Given the description of an element on the screen output the (x, y) to click on. 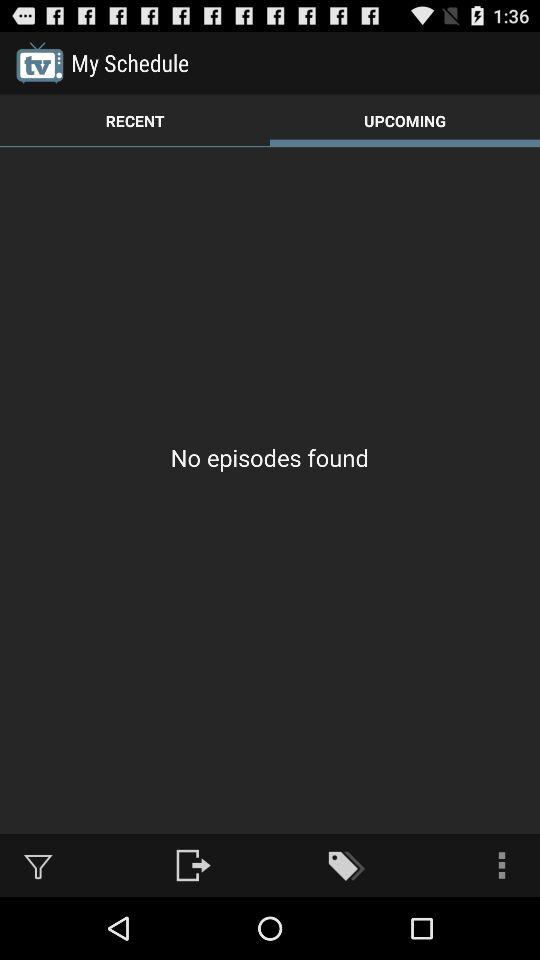
flip until the upcoming icon (405, 120)
